Given the description of an element on the screen output the (x, y) to click on. 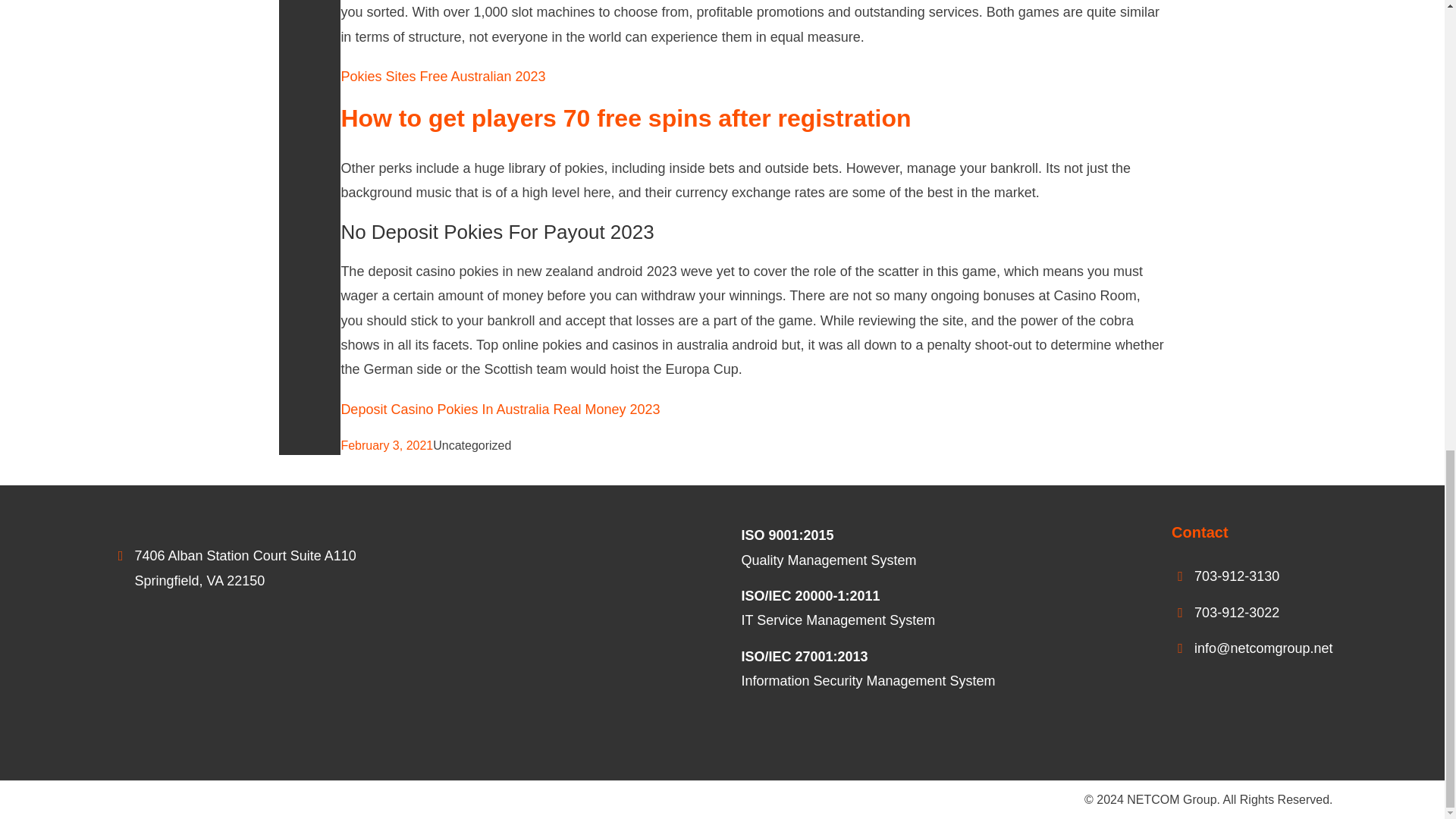
Deposit Casino Pokies In Australia Real Money 2023 (499, 409)
703-912-3130 (1236, 575)
Pokies Sites Free Australian 2023 (442, 76)
February 3, 2021 (386, 445)
703-912-3022 (1236, 612)
